Given the description of an element on the screen output the (x, y) to click on. 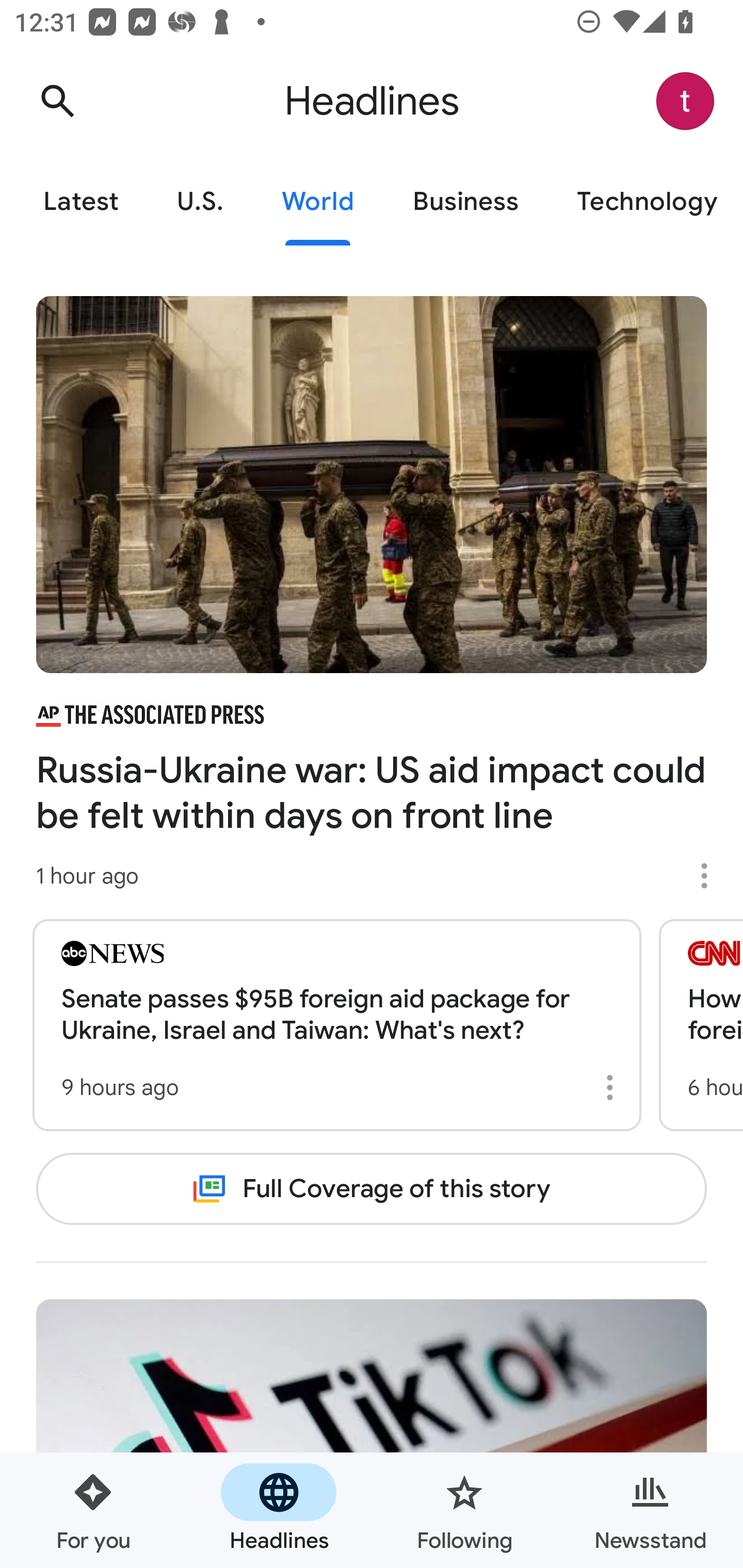
Search (57, 100)
Latest (80, 202)
U.S. (199, 202)
Business (465, 202)
Technology (645, 202)
More options (711, 875)
More options (613, 1086)
Full Coverage of this story (371, 1188)
For you (92, 1509)
Headlines (278, 1509)
Following (464, 1509)
Newsstand (650, 1509)
